Given the description of an element on the screen output the (x, y) to click on. 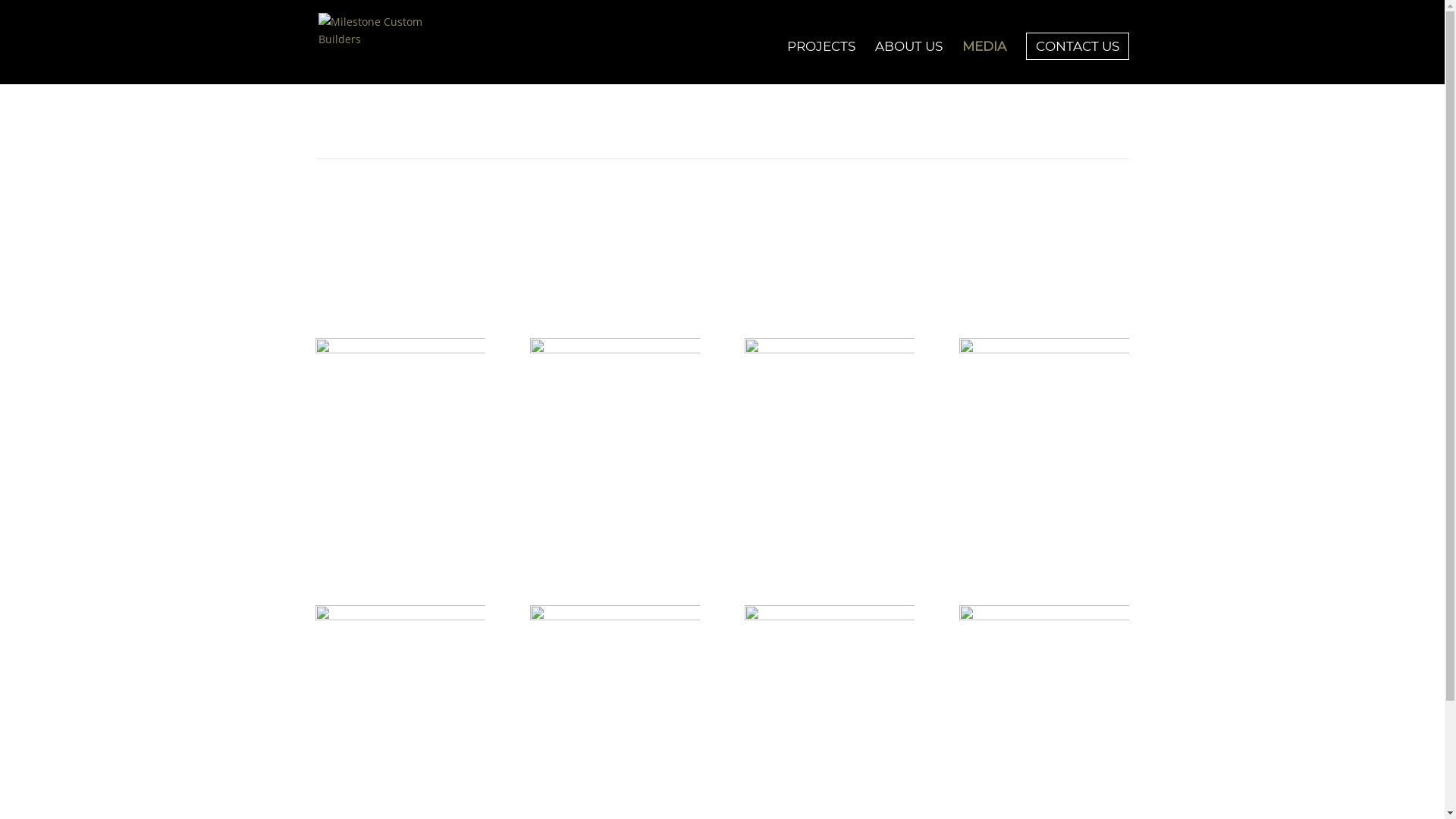
ABOUT US Element type: text (908, 58)
MEDIA Element type: text (984, 58)
vogue-living-sep-oct-2015 Element type: hover (614, 448)
PROJECTS Element type: text (821, 58)
belle-2017 Element type: hover (829, 710)
house-and-garden-1 Element type: hover (1044, 448)
CONTACT US Element type: text (1077, 45)
est-magazine-issue-38 Element type: hover (400, 451)
belle-magazine-june-2020 Element type: hover (829, 450)
